Given the description of an element on the screen output the (x, y) to click on. 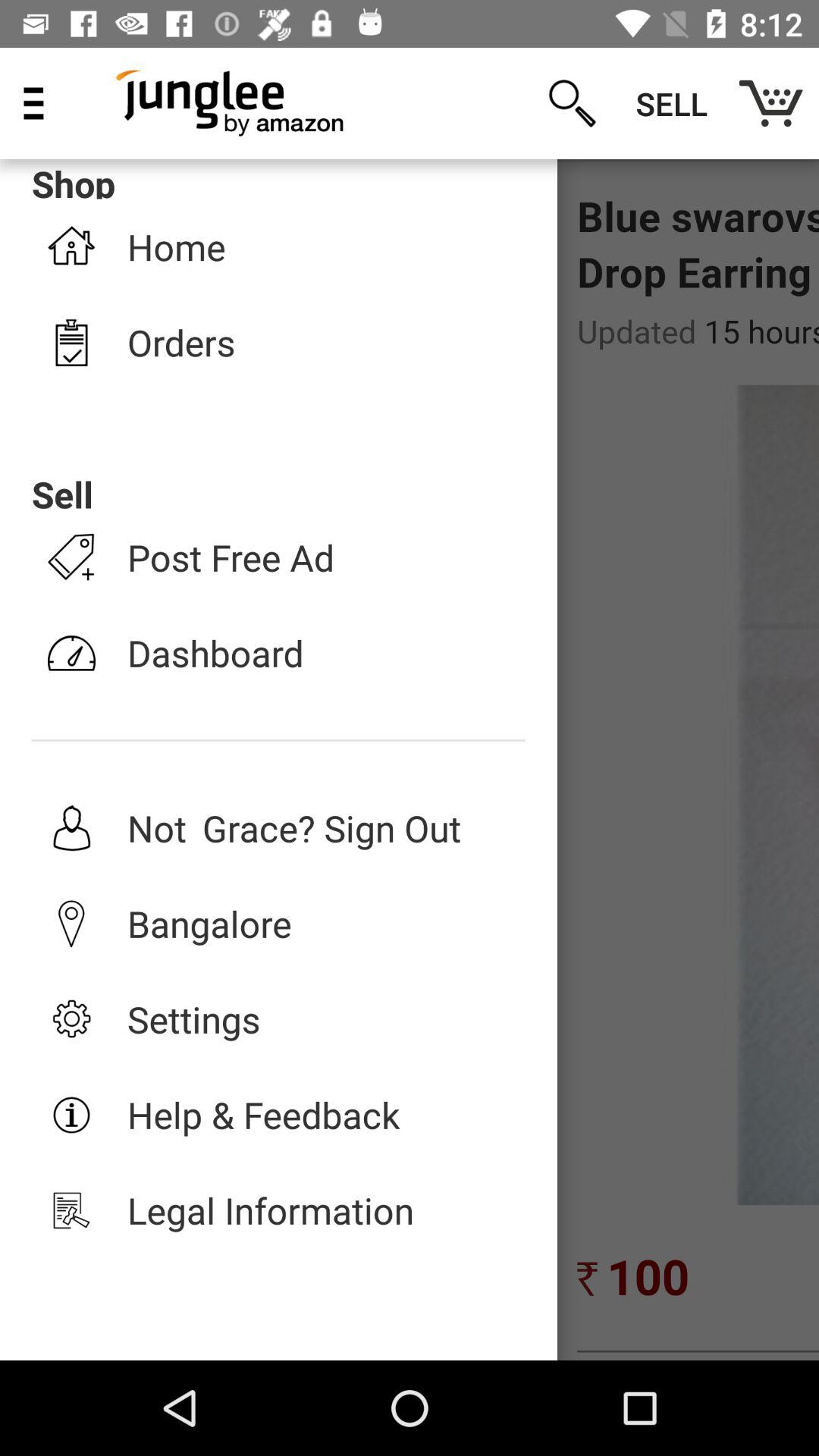
select item next to the sell icon (771, 103)
